Given the description of an element on the screen output the (x, y) to click on. 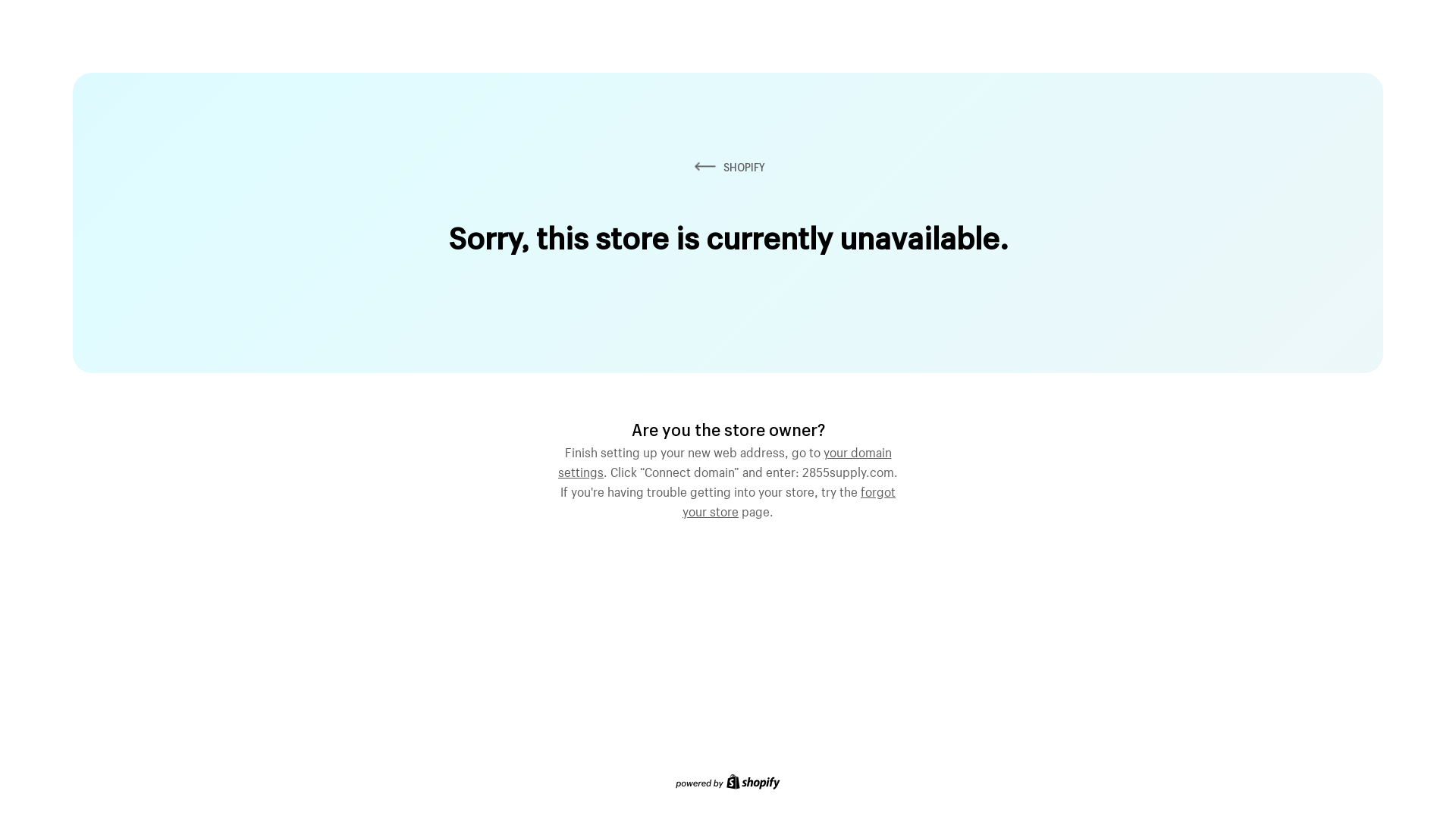
your domain settings Element type: text (724, 460)
forgot your store Element type: text (788, 499)
SHOPIFY Element type: text (727, 167)
